Given the description of an element on the screen output the (x, y) to click on. 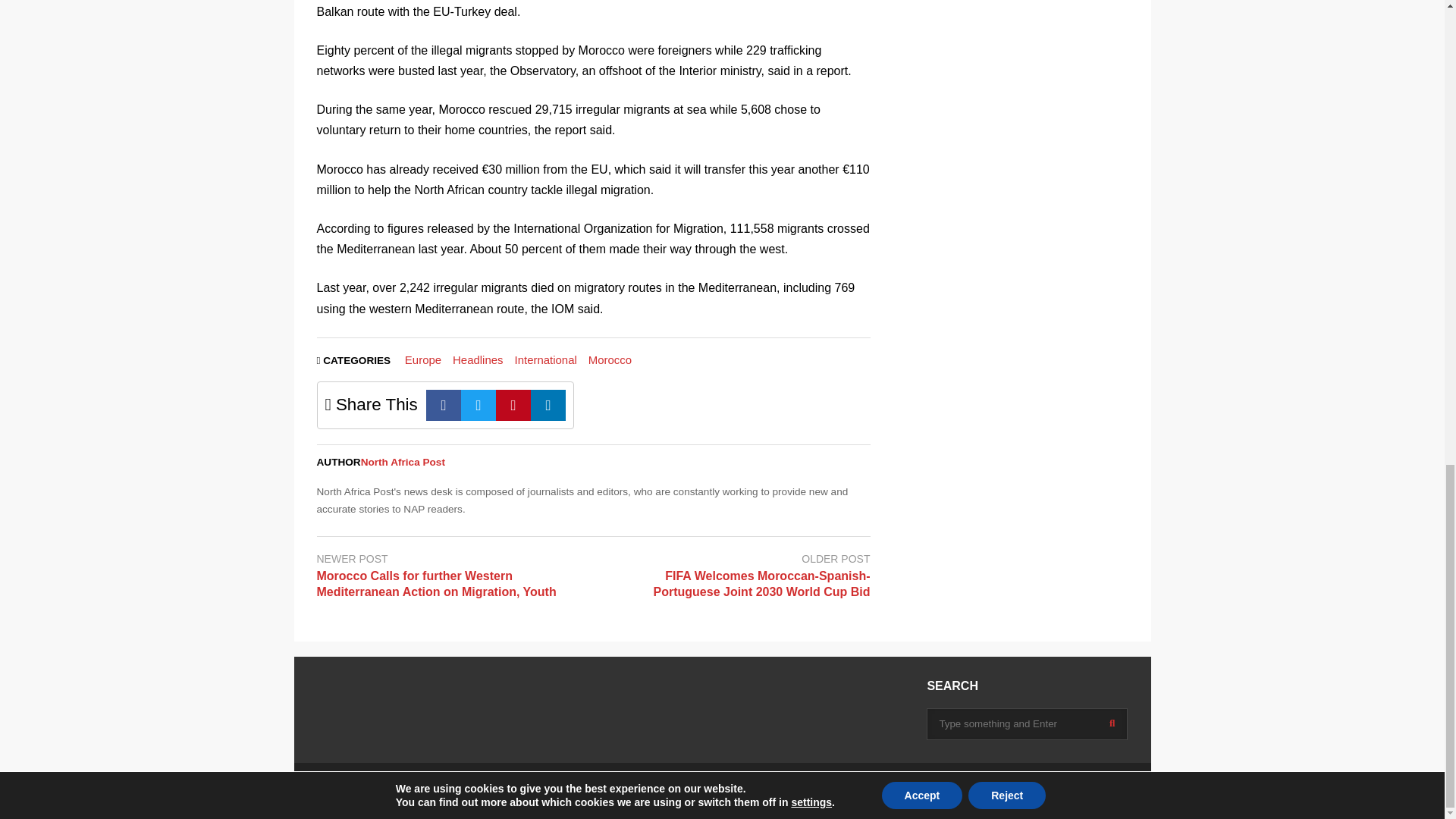
Pinterest (513, 404)
Twitter (478, 404)
Linkedin (548, 404)
Facebook (443, 404)
